Given the description of an element on the screen output the (x, y) to click on. 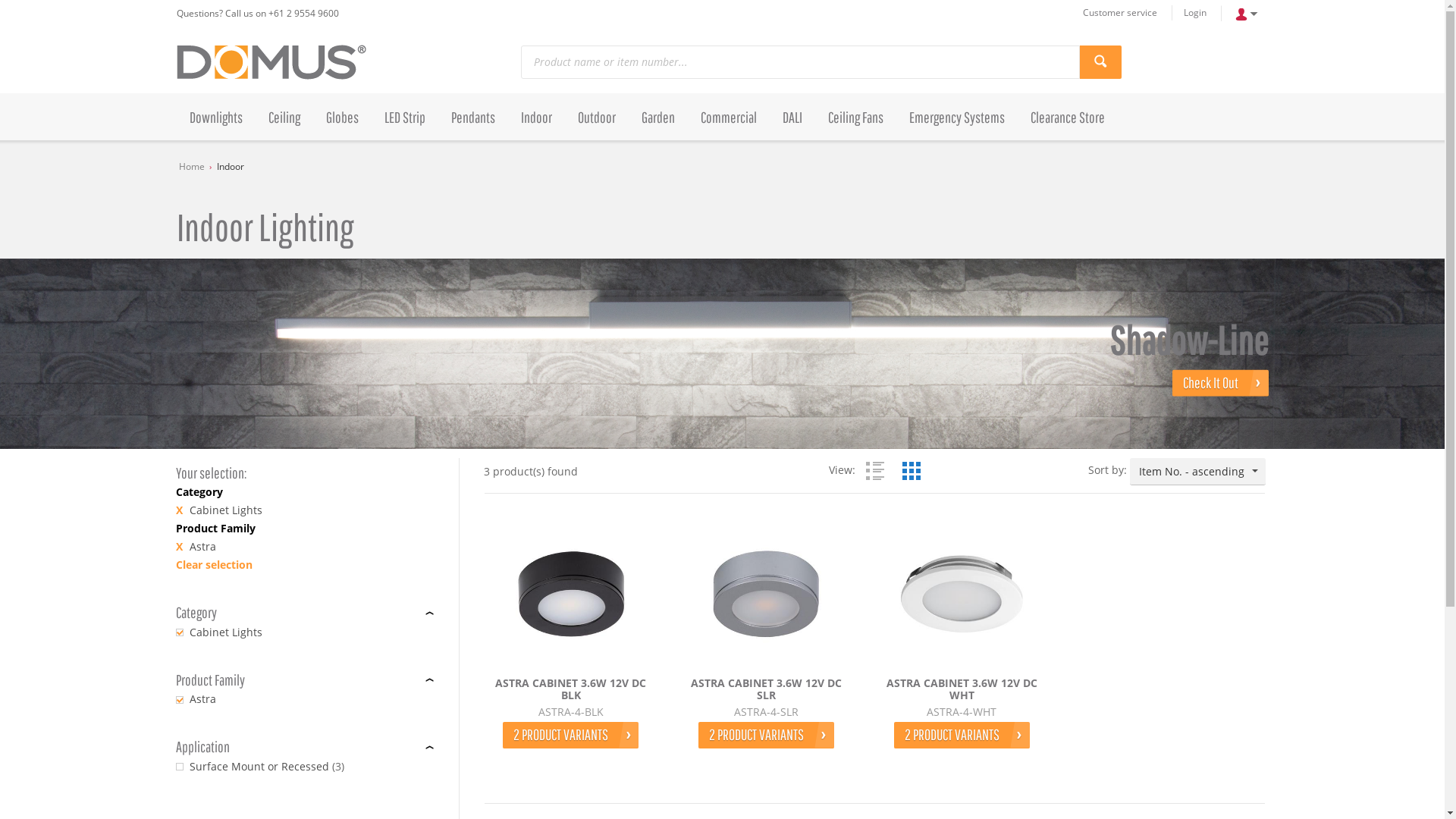
ASTRA CABINET 3.6W 12V DC SLR Element type: hover (765, 593)
2 PRODUCT VARIANTS Element type: text (766, 734)
2 PRODUCT VARIANTS Element type: text (570, 734)
Indoor Element type: text (230, 166)
ASTRA CABINET 3.6W 12V DC WHT Element type: text (961, 689)
Astra Element type: text (202, 699)
Clear selection Element type: text (213, 564)
List view Element type: hover (875, 470)
ASTRA CABINET 3.6W 12V DC BLK Element type: hover (570, 593)
ASTRA CABINET 3.6W 12V DC WHT Element type: hover (961, 593)
Downlights Element type: text (214, 116)
X Element type: text (178, 510)
2 PRODUCT VARIANTS Element type: text (961, 734)
Check It Out Element type: text (1220, 383)
Indoor Element type: text (536, 116)
Outdoor Element type: text (595, 116)
LED Strip Element type: text (404, 116)
X Element type: text (178, 546)
DALI Element type: text (791, 116)
Ceiling Fans Element type: text (854, 116)
Login Element type: text (1193, 12)
Emergency Systems Element type: text (956, 116)
Garden Element type: text (657, 116)
Customer service Element type: text (1118, 12)
Clearance Store Element type: text (1067, 116)
Pendants Element type: text (473, 116)
Ceiling Element type: text (283, 116)
Globes Element type: text (341, 116)
Home Element type: text (191, 166)
Grid view Element type: hover (911, 470)
Search products Element type: hover (1100, 61)
ASTRA CABINET 3.6W 12V DC BLK Element type: text (570, 689)
Cabinet Lights Element type: text (225, 632)
Commercial Element type: text (727, 116)
Surface Mount or Recessed Element type: text (259, 766)
ASTRA CABINET 3.6W 12V DC SLR Element type: text (765, 689)
